Given the description of an element on the screen output the (x, y) to click on. 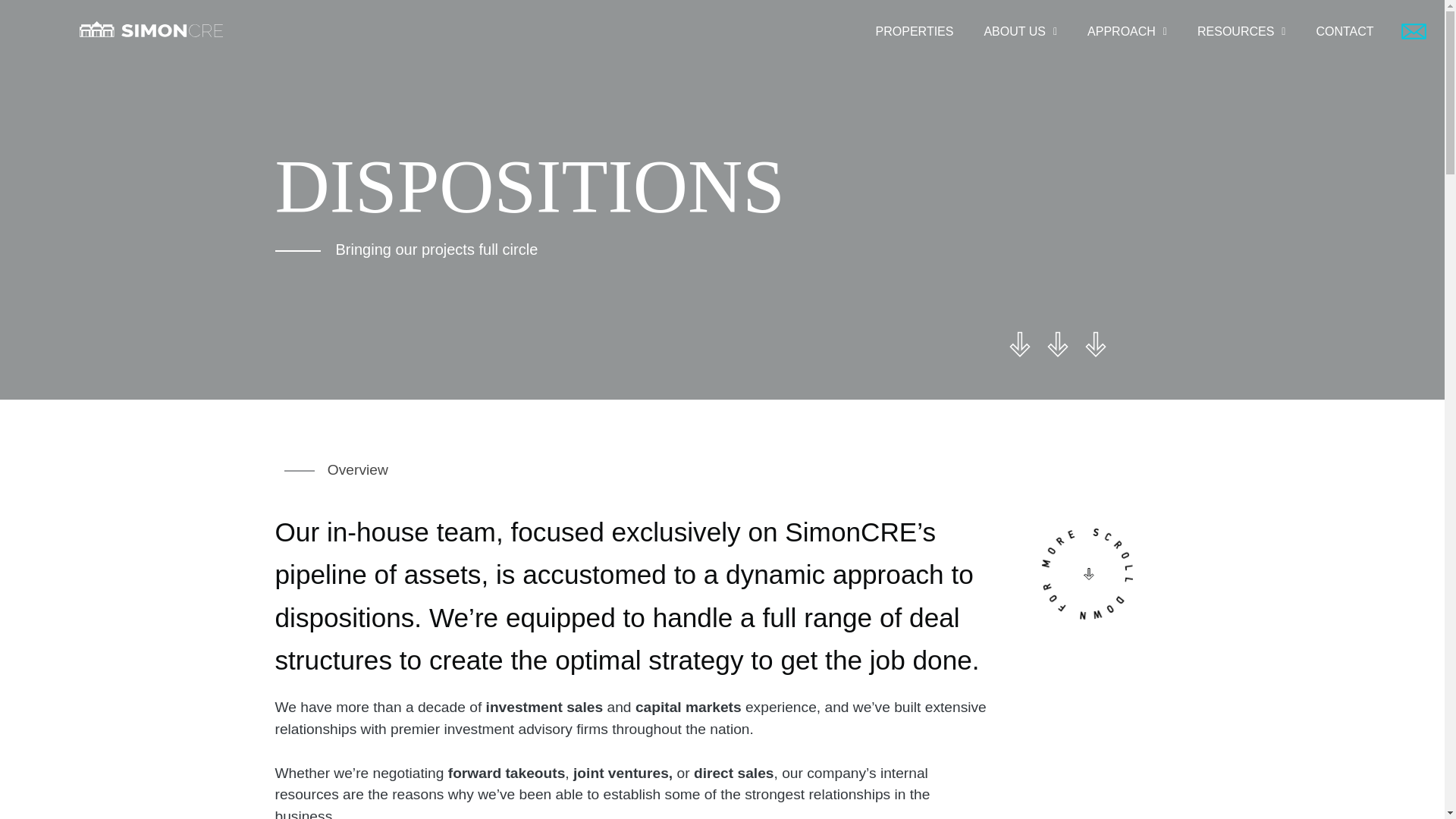
PROPERTIES (914, 26)
APPROACH (1126, 26)
CONTACT (1344, 26)
RESOURCES (1241, 26)
ABOUT US (1019, 26)
